Given the description of an element on the screen output the (x, y) to click on. 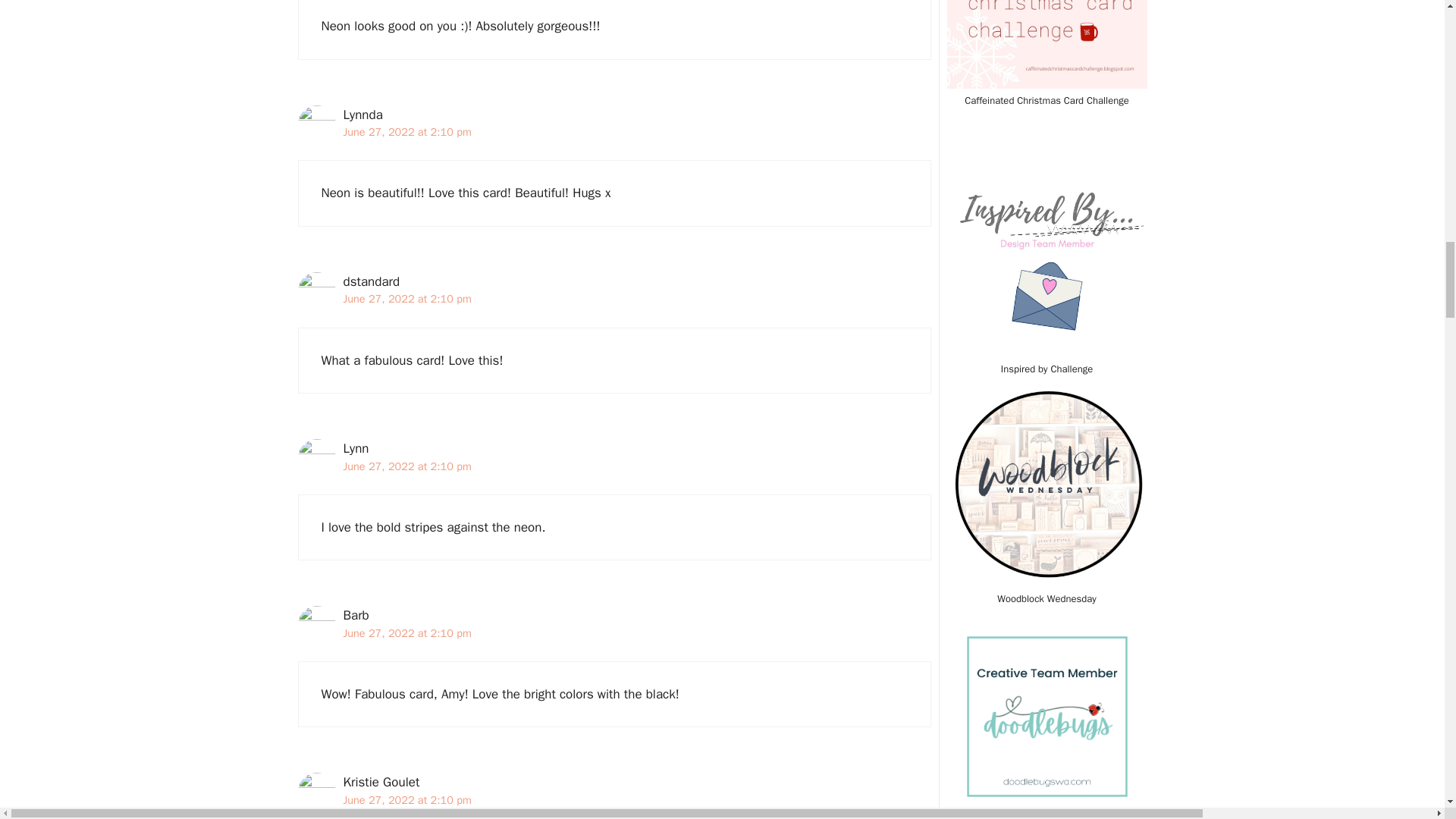
June 27, 2022 at 2:10 pm (406, 298)
June 27, 2022 at 2:10 pm (406, 466)
June 27, 2022 at 2:10 pm (406, 632)
June 27, 2022 at 2:10 pm (406, 131)
June 27, 2022 at 2:10 pm (406, 799)
